Given the description of an element on the screen output the (x, y) to click on. 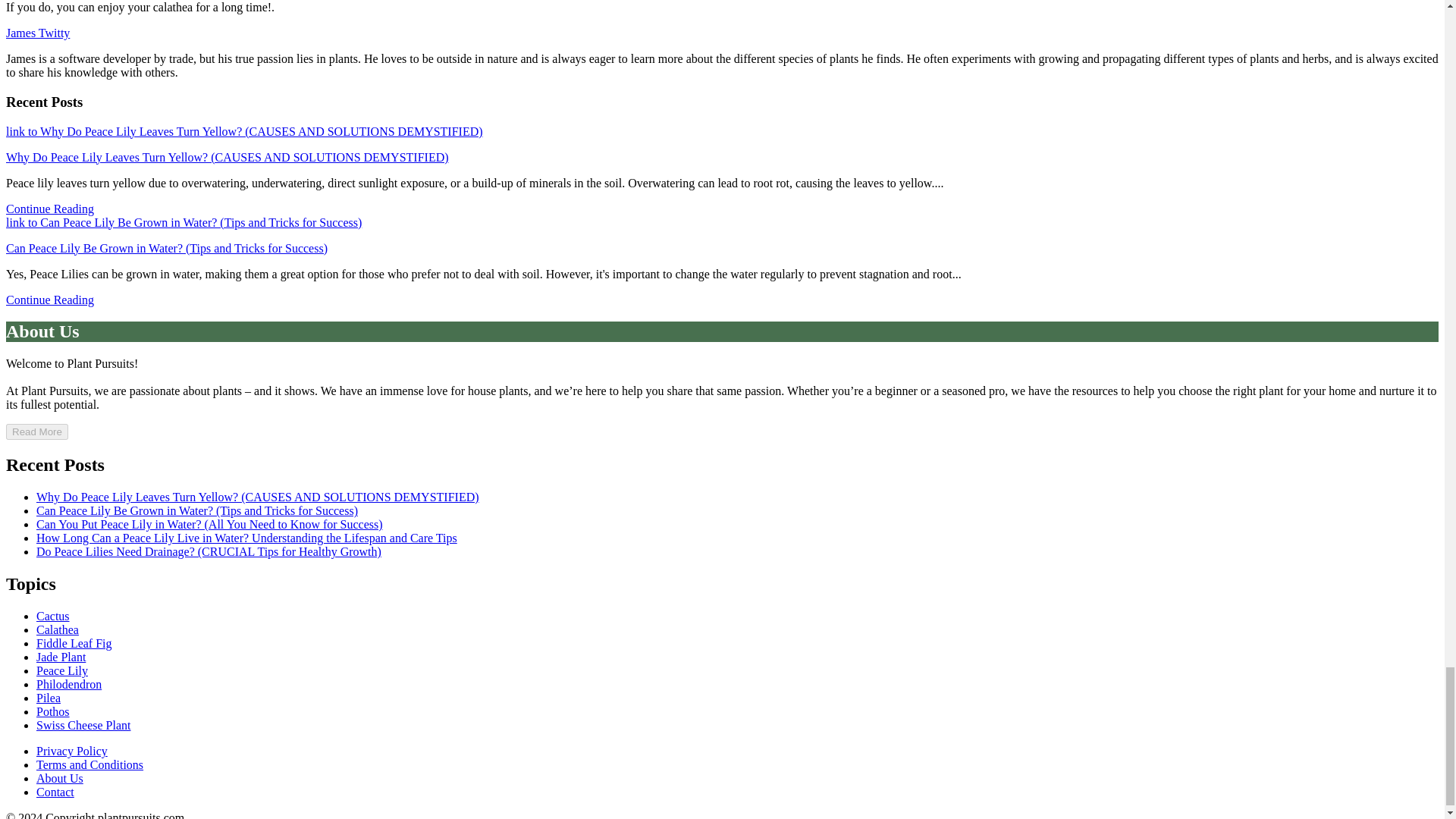
Fiddle Leaf Fig (74, 643)
Read More (36, 431)
Continue Reading (49, 299)
Continue Reading (49, 208)
Jade Plant (60, 656)
Calathea (57, 629)
Peace Lily (61, 670)
James Twitty (37, 32)
Cactus (52, 615)
Philodendron (68, 684)
